Given the description of an element on the screen output the (x, y) to click on. 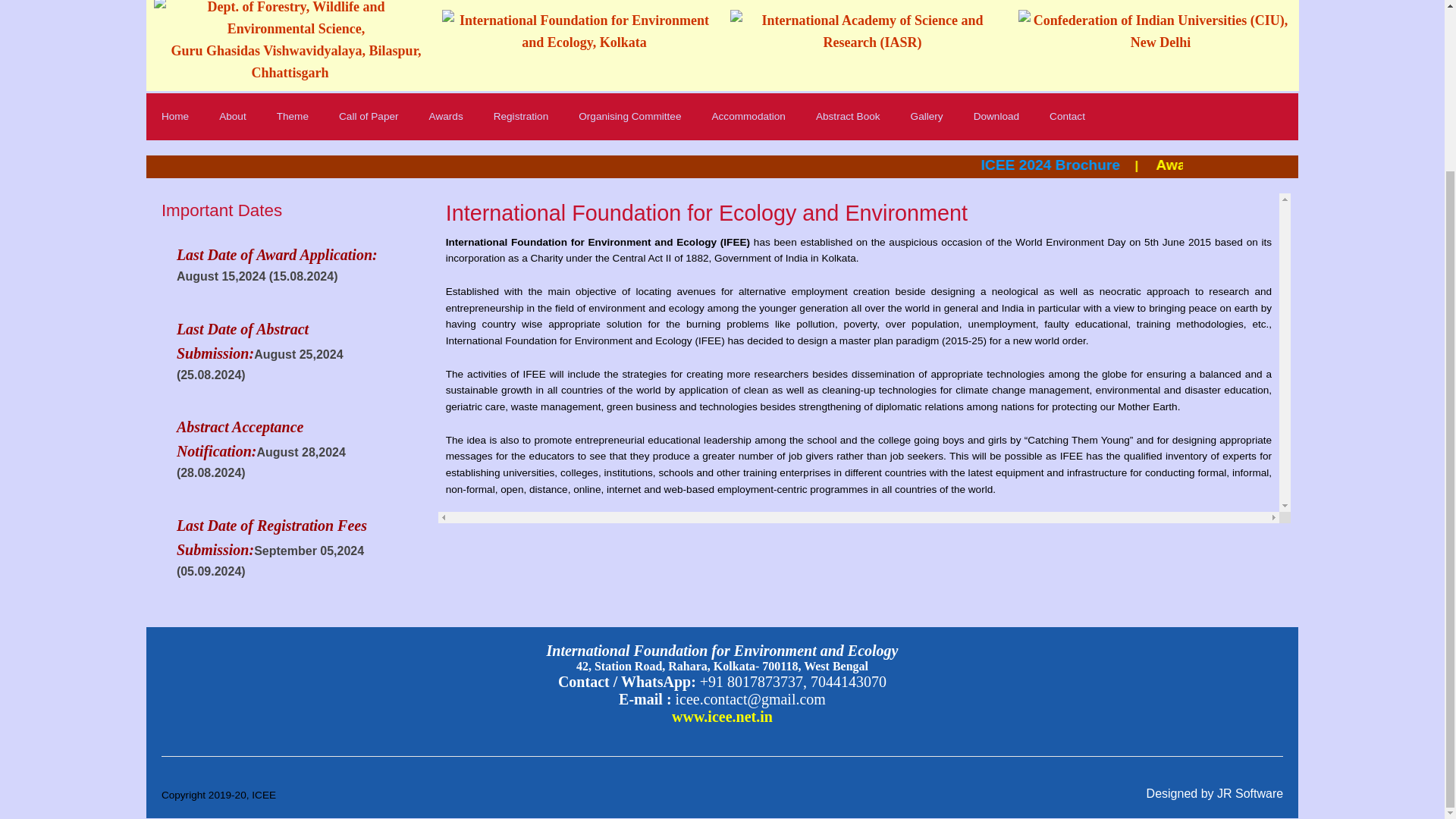
Contact (1066, 116)
Gallery (926, 116)
  ICEE 2024 Brochure   (1244, 164)
Call of Paper (368, 116)
Download (995, 116)
Home (175, 116)
About (232, 116)
Abstract Book (847, 116)
Accommodation (747, 116)
Registration (521, 116)
